Given the description of an element on the screen output the (x, y) to click on. 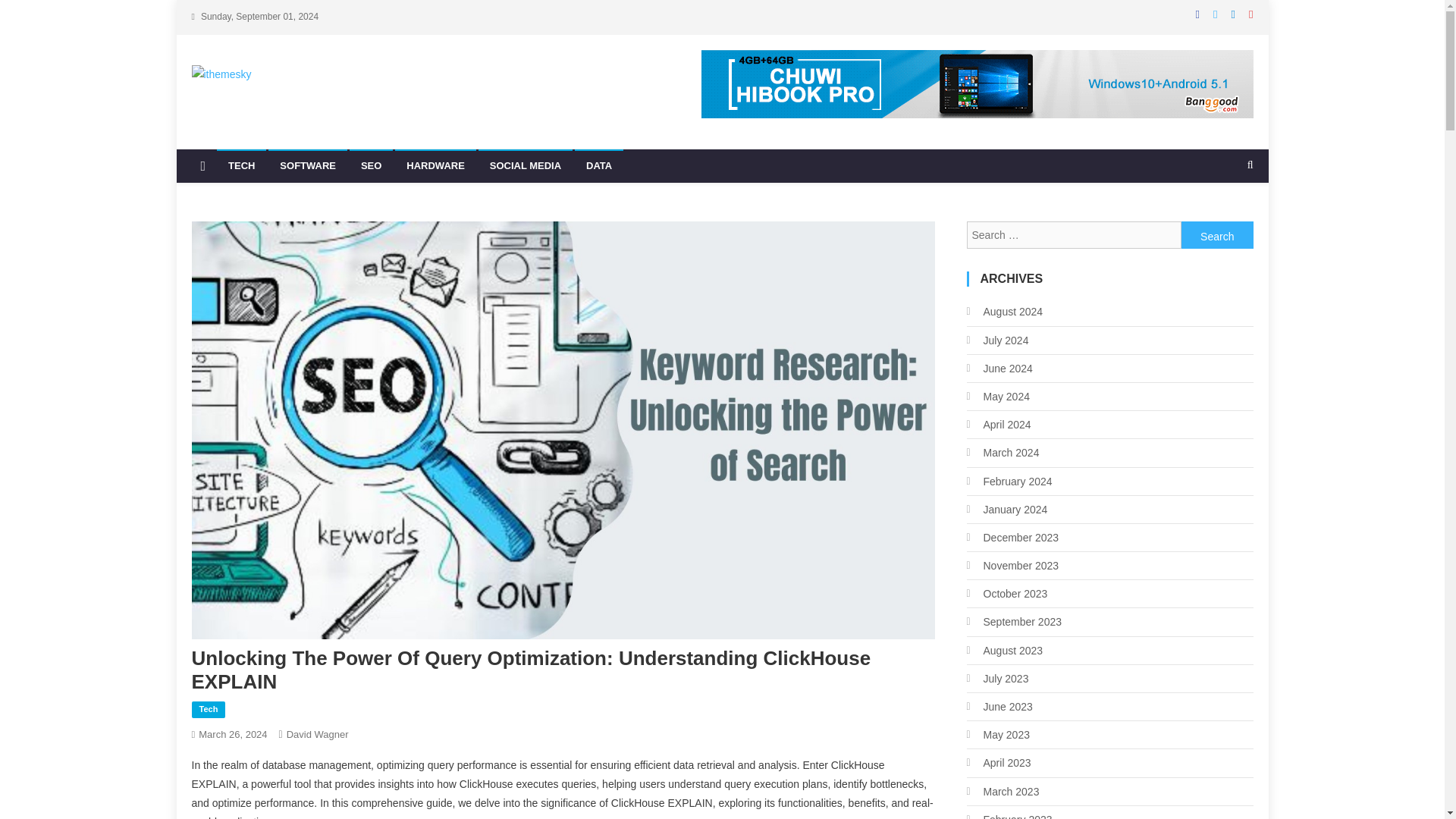
August 2024 (1004, 311)
March 26, 2024 (232, 734)
TECH (241, 165)
SEO (371, 165)
David Wagner (317, 734)
Search (1216, 234)
SOCIAL MEDIA (525, 165)
July 2024 (996, 340)
Search (1216, 234)
Search (1216, 234)
